Given the description of an element on the screen output the (x, y) to click on. 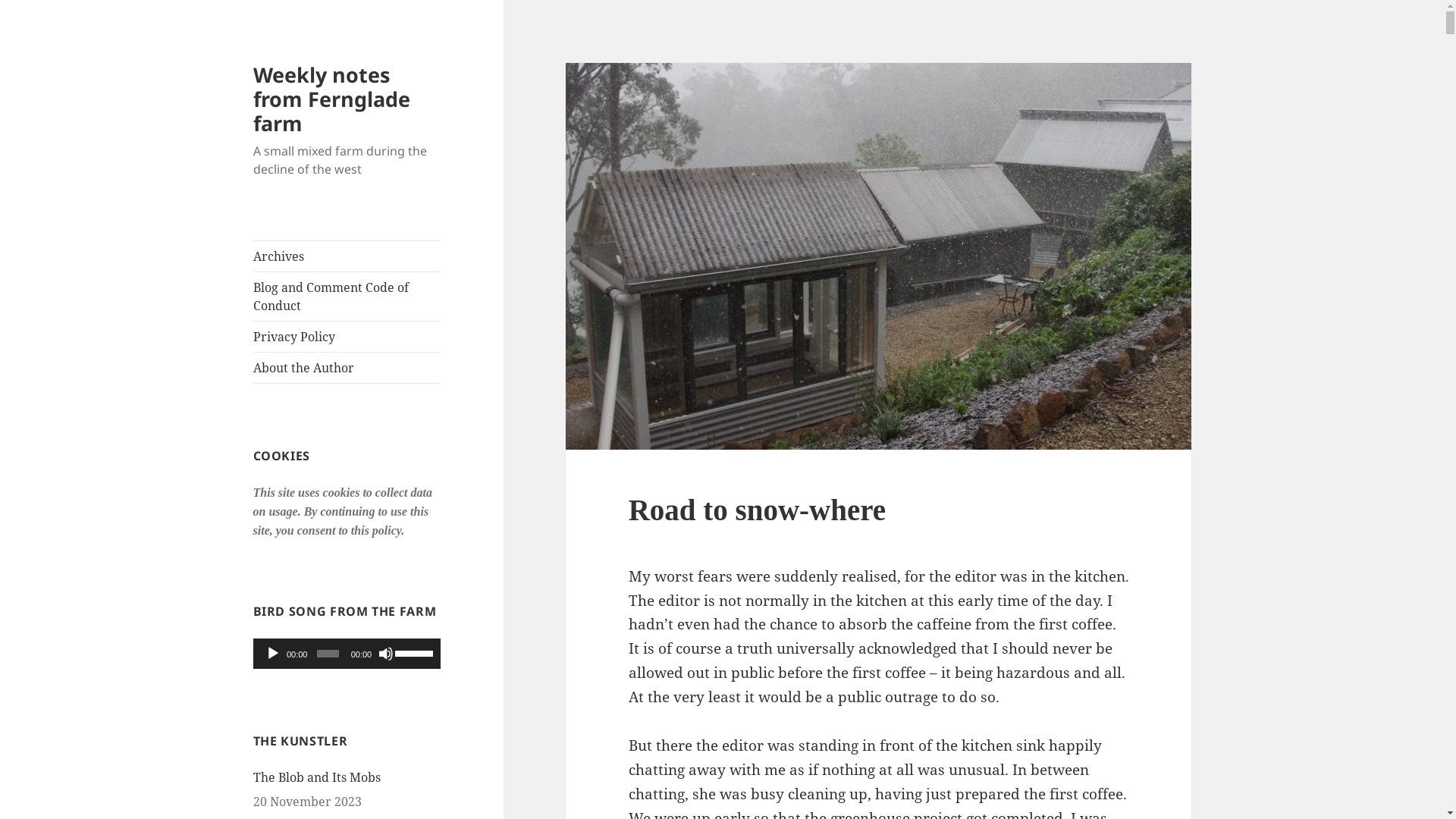
Play Element type: hover (272, 653)
Privacy Policy Element type: text (347, 336)
Mute Element type: hover (385, 653)
Use Up/Down Arrow keys to increase or decrease volume. Element type: text (414, 651)
Weekly notes from Fernglade farm Element type: text (331, 98)
The Blob and Its Mobs Element type: text (316, 776)
Archives Element type: text (347, 256)
Blog and Comment Code of Conduct Element type: text (347, 296)
About the Author Element type: text (347, 367)
